Given the description of an element on the screen output the (x, y) to click on. 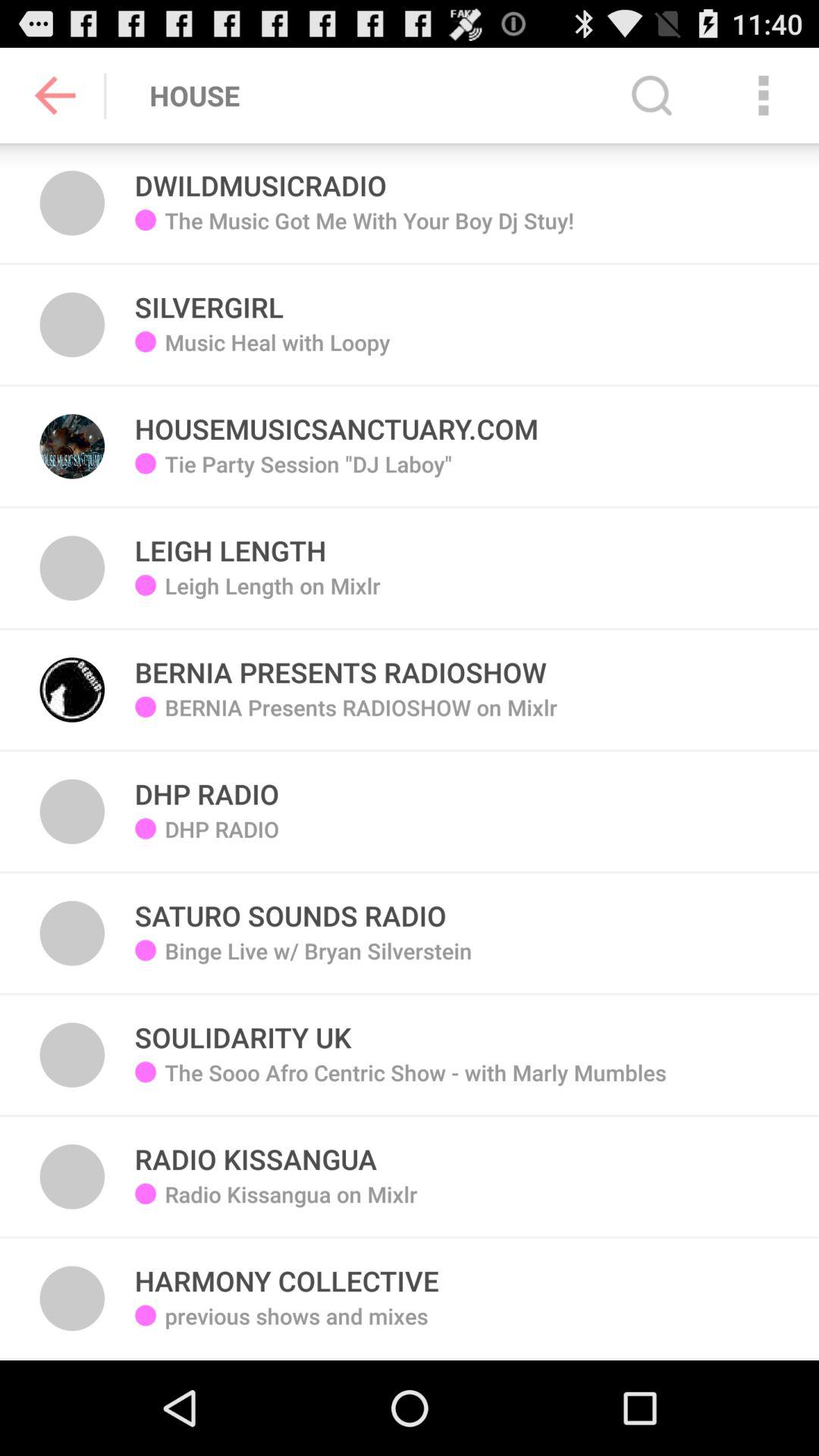
open silvergirl icon (208, 298)
